Given the description of an element on the screen output the (x, y) to click on. 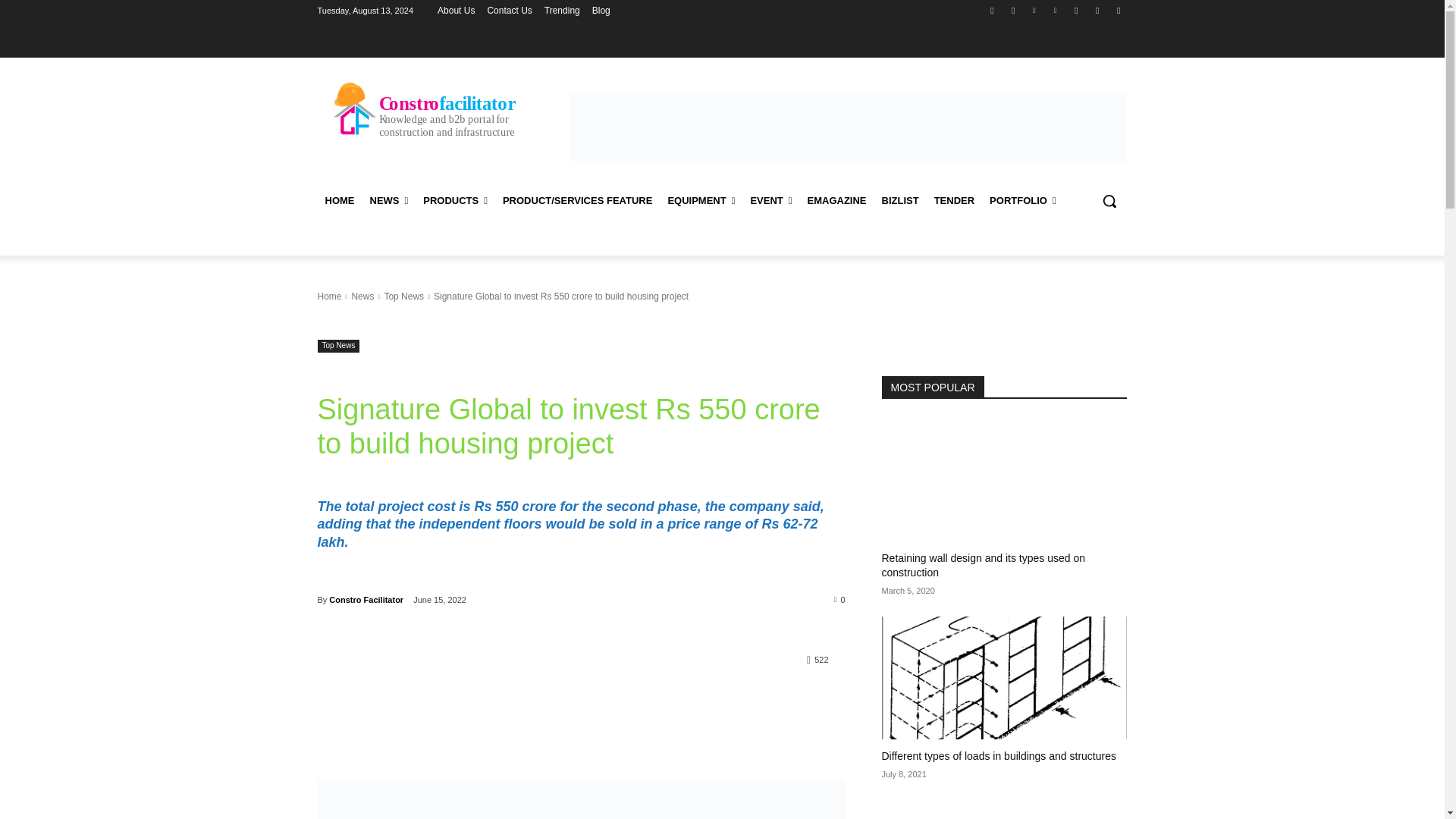
Twitter (1097, 9)
Facebook (992, 9)
Youtube (1117, 9)
Linkedin (1034, 9)
Instagram (1013, 9)
RSS (1075, 9)
Pinterest (1055, 9)
